Given the description of an element on the screen output the (x, y) to click on. 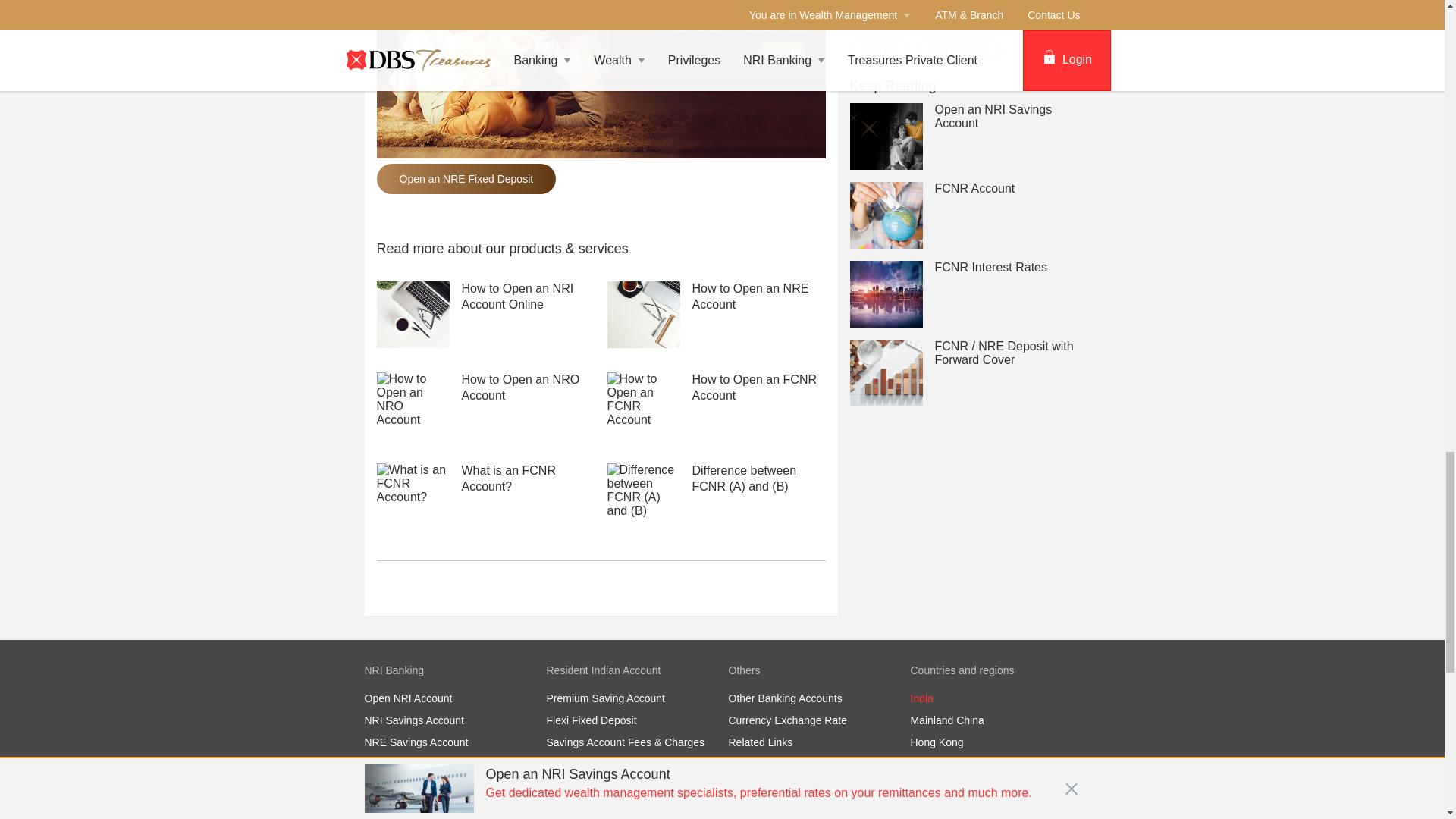
Join DBS Treasures (600, 56)
Open an NRE Fixed Deposit (465, 178)
Join DBS Treasures (600, 79)
